Given the description of an element on the screen output the (x, y) to click on. 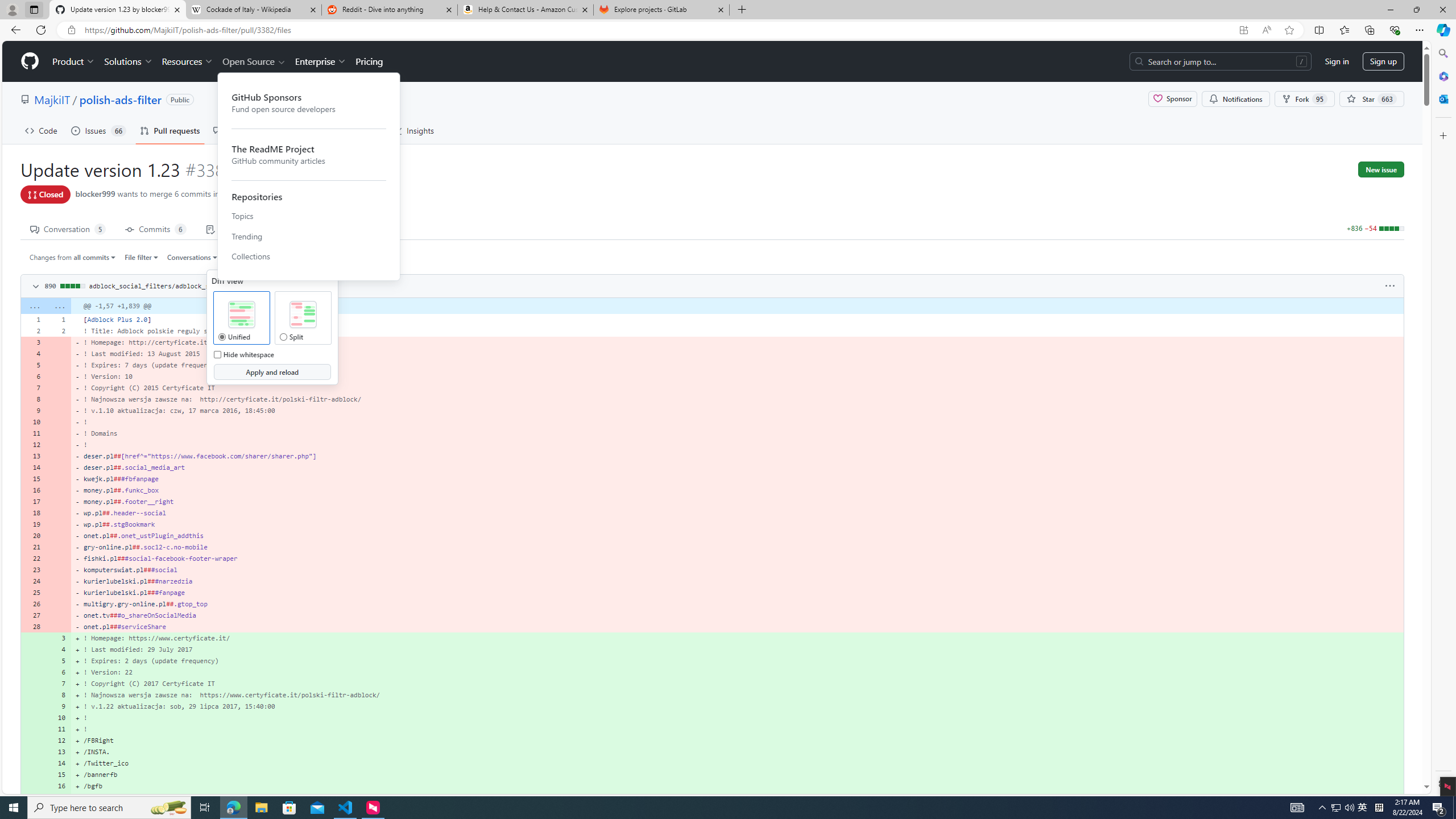
App available. Install GitHub (1243, 29)
File filter (141, 257)
25 (33, 592)
- ! Version: 10 (737, 376)
- ! Homepage: http://certyficate.it/ (737, 342)
- kwejk.pl###fbfanpage (737, 478)
Pull requests (170, 130)
Original file line number (35, 316)
Topics (309, 215)
4 (58, 649)
